Given the description of an element on the screen output the (x, y) to click on. 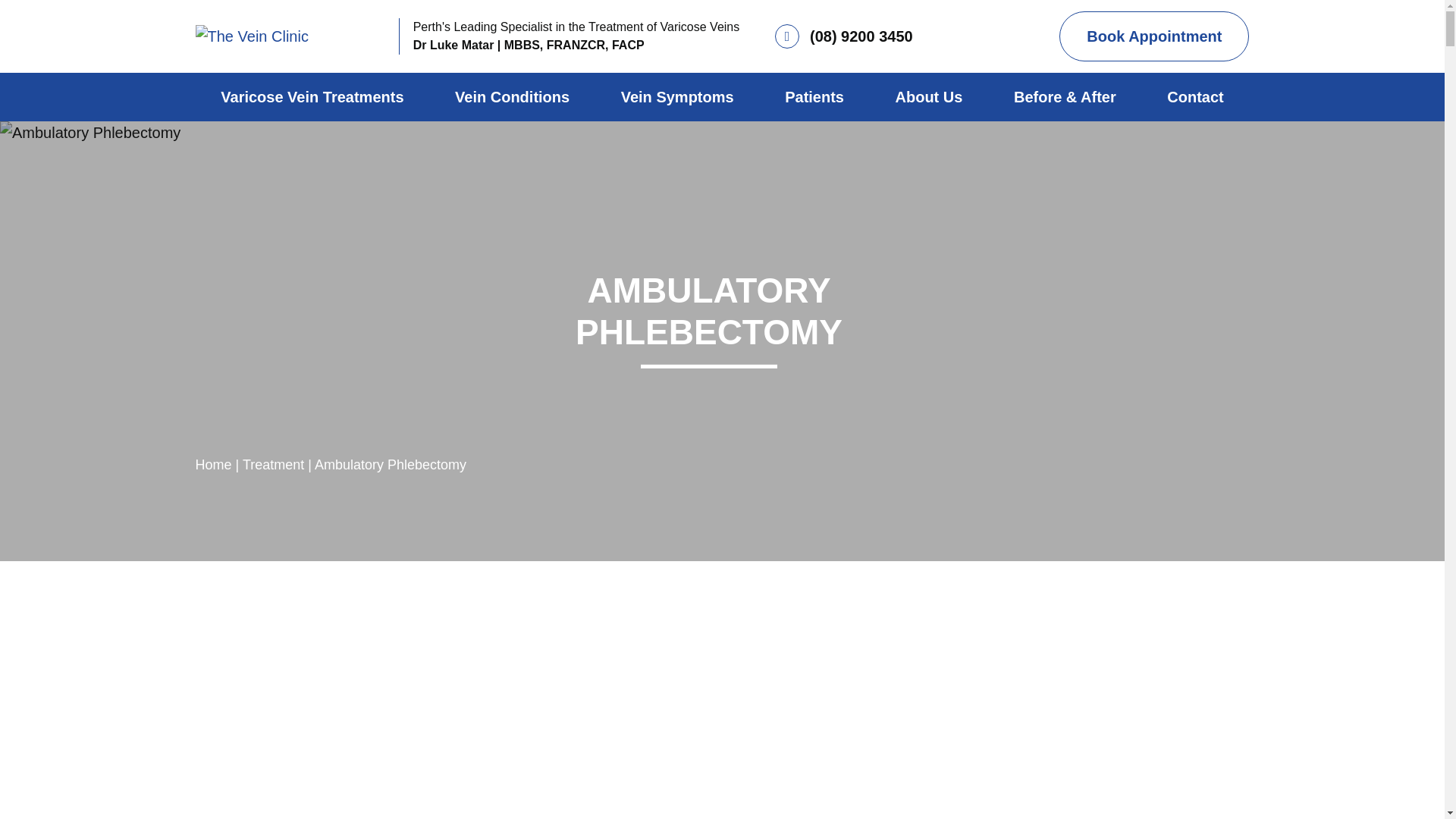
The Vein Clinic (290, 36)
Vein Conditions (512, 96)
Varicose Vein Treatments (312, 96)
About Us (928, 96)
Patients (813, 96)
Vein Symptoms (676, 96)
Book Appointment (1154, 36)
